Given the description of an element on the screen output the (x, y) to click on. 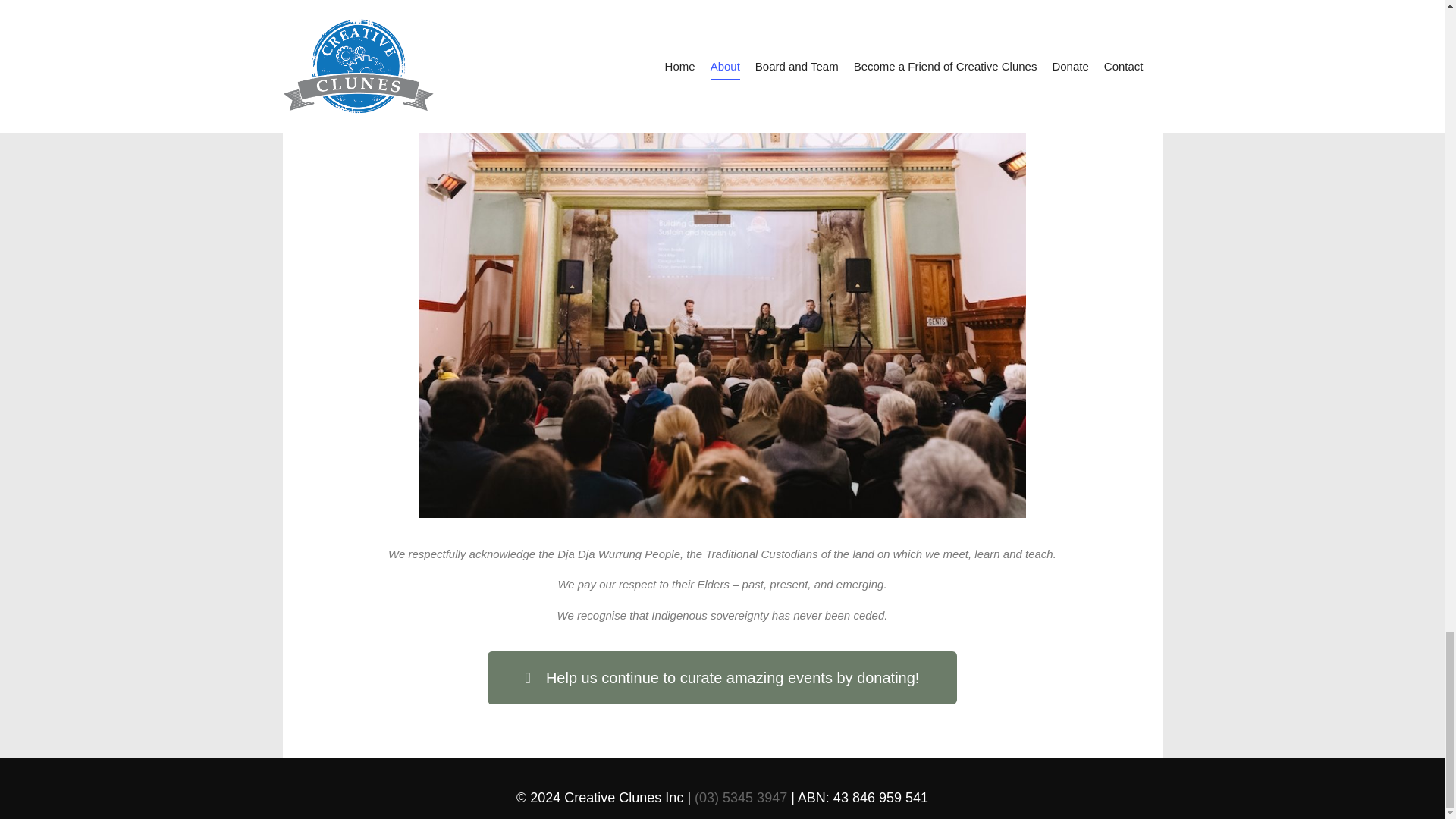
Help us continue to curate amazing events by donating! (722, 677)
